Given the description of an element on the screen output the (x, y) to click on. 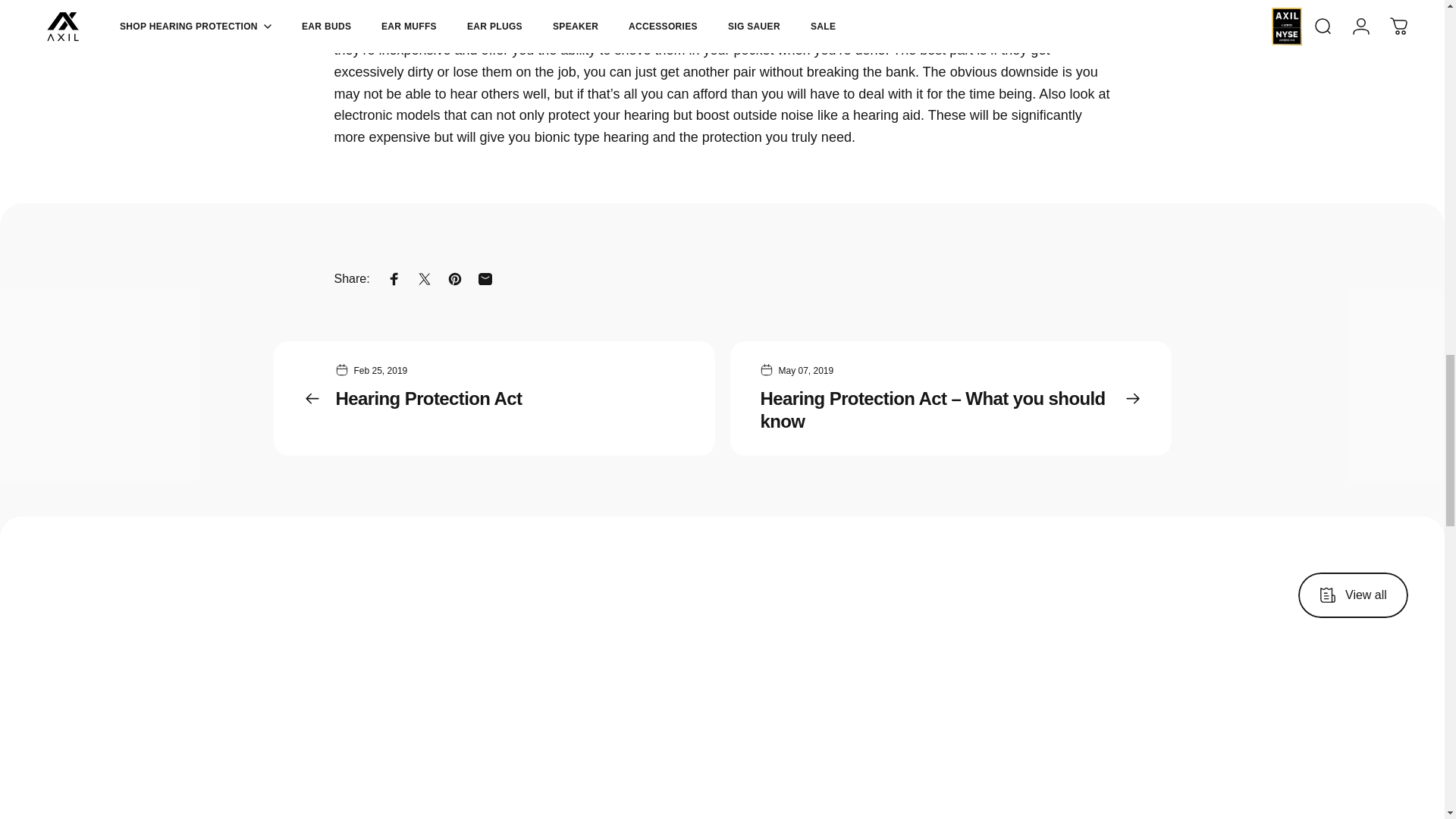
Share on Facebook (393, 278)
Tweet on Twitter (424, 278)
Share by Email (485, 278)
Pin on Pinterest (454, 278)
